Given the description of an element on the screen output the (x, y) to click on. 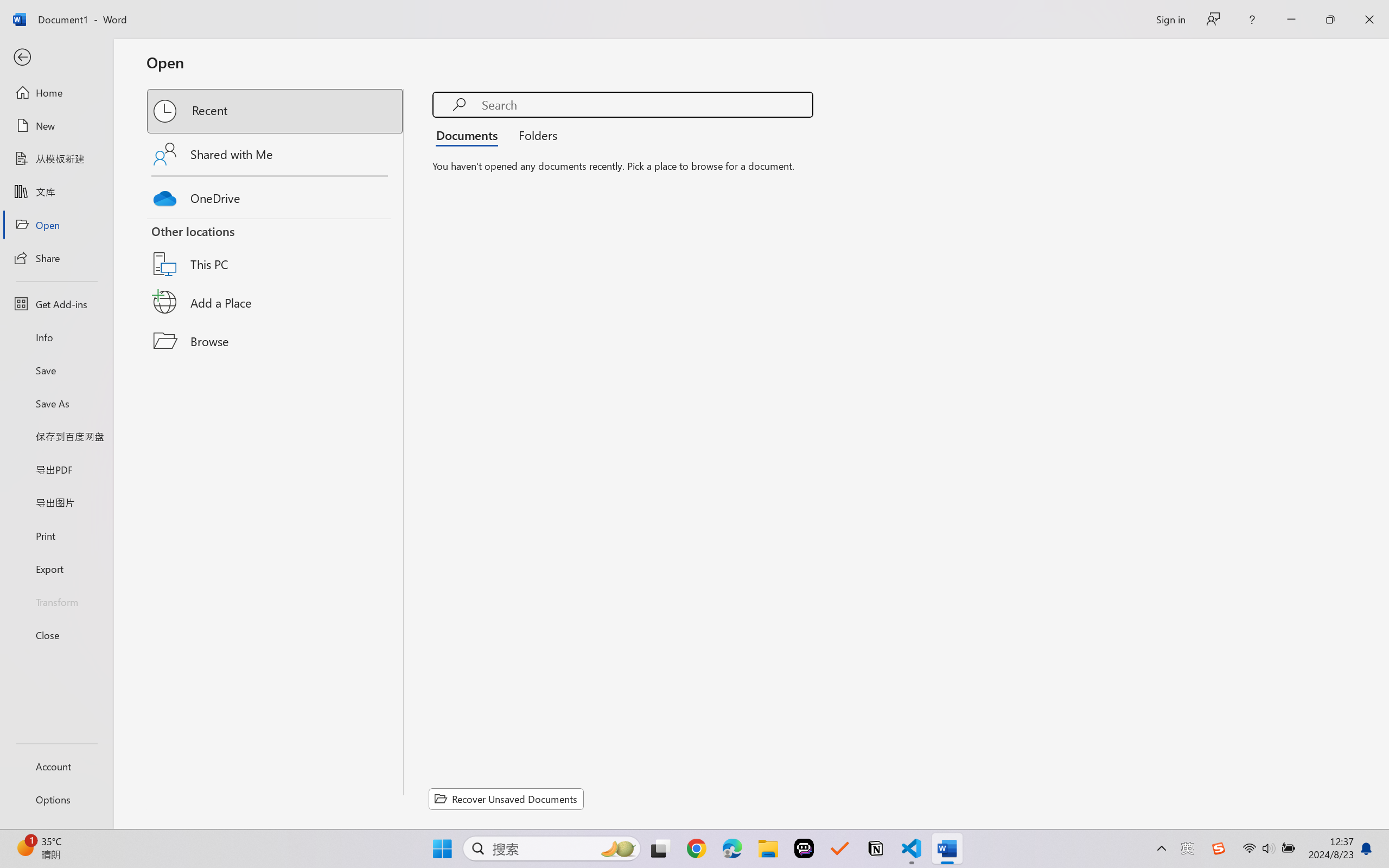
Shared with Me (275, 153)
Save As (56, 403)
OneDrive (275, 195)
This PC (275, 249)
Browse (275, 340)
Account (56, 765)
Options (56, 798)
Back (56, 57)
